Given the description of an element on the screen output the (x, y) to click on. 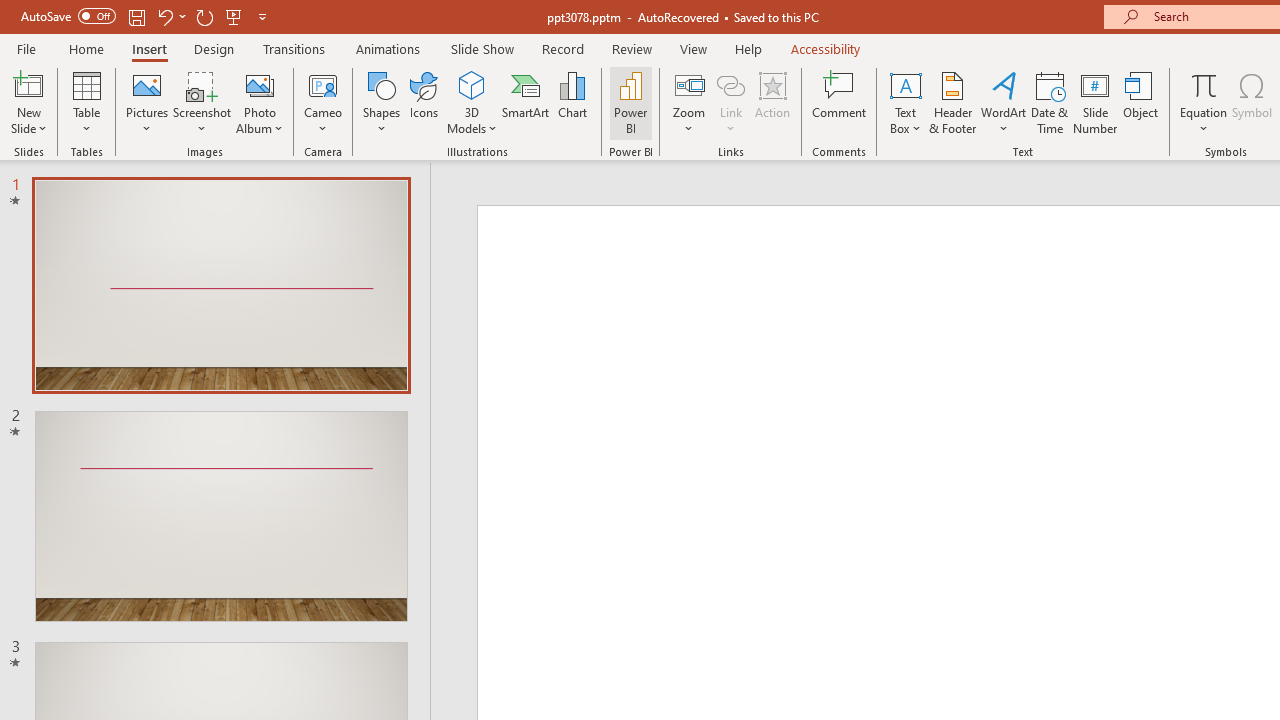
Icons (424, 102)
Shapes (381, 102)
Equation (1203, 84)
Cameo (323, 84)
3D Models (472, 84)
